Given the description of an element on the screen output the (x, y) to click on. 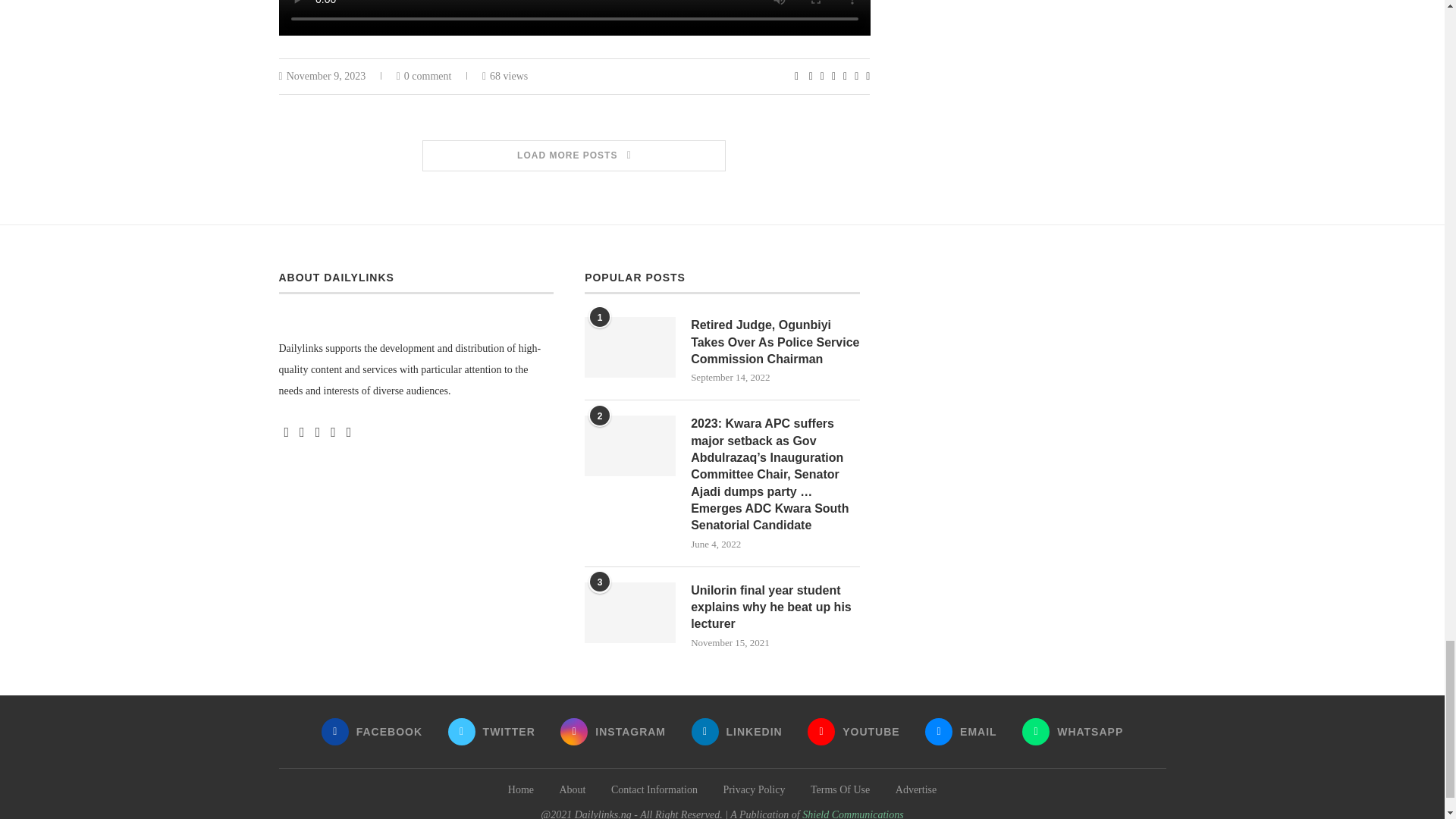
LOAD MORE POSTS (574, 155)
